Given the description of an element on the screen output the (x, y) to click on. 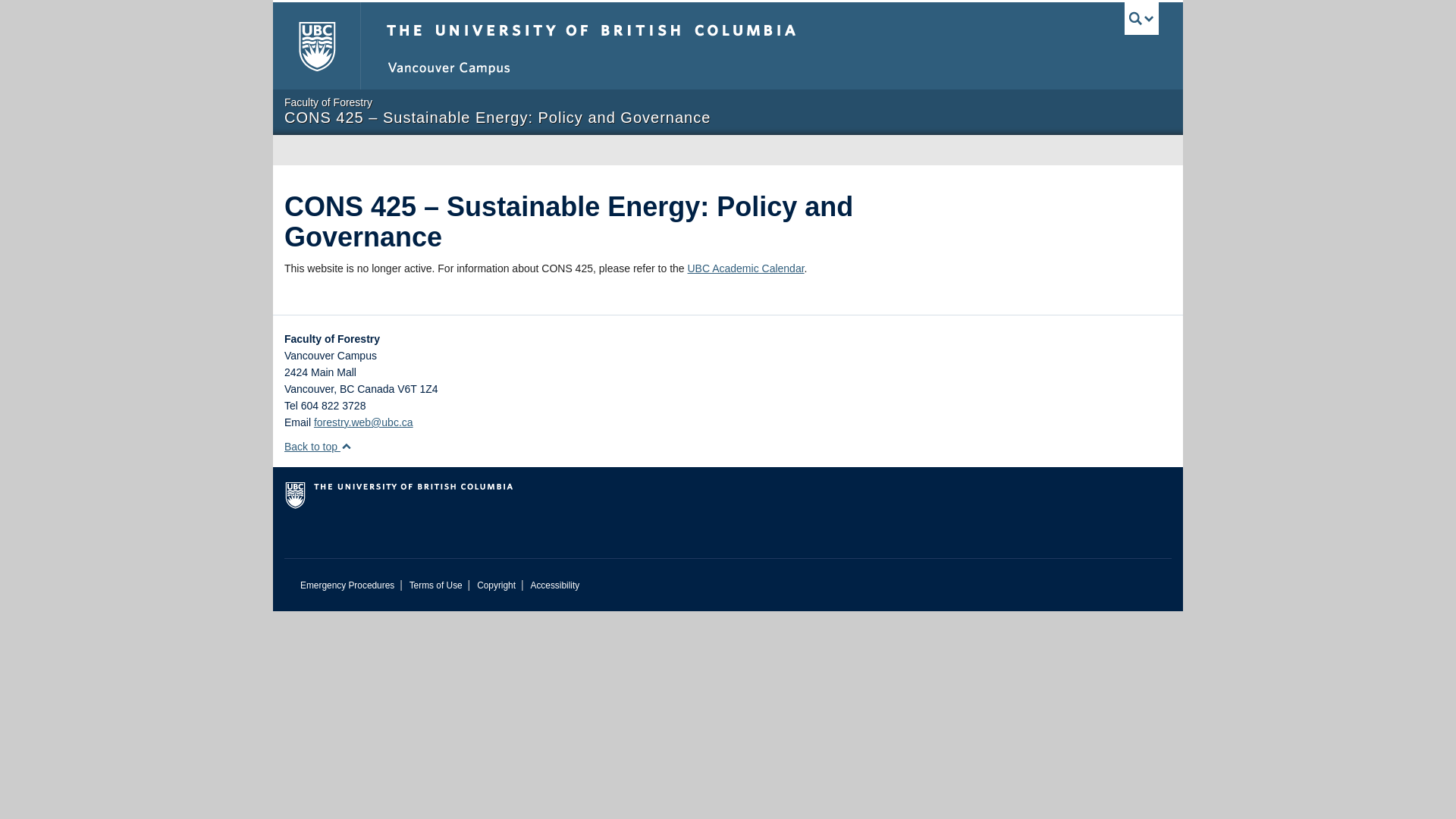
Emergency Procedures (346, 584)
UBC Search (1141, 18)
Back to top (317, 446)
The University of British Columbia (316, 45)
Accessibility (554, 584)
Back to top (317, 446)
Emergency Procedures (346, 584)
Accessibility (554, 584)
UBC Academic Calendar (745, 268)
The University of British Columbia (461, 501)
